Given the description of an element on the screen output the (x, y) to click on. 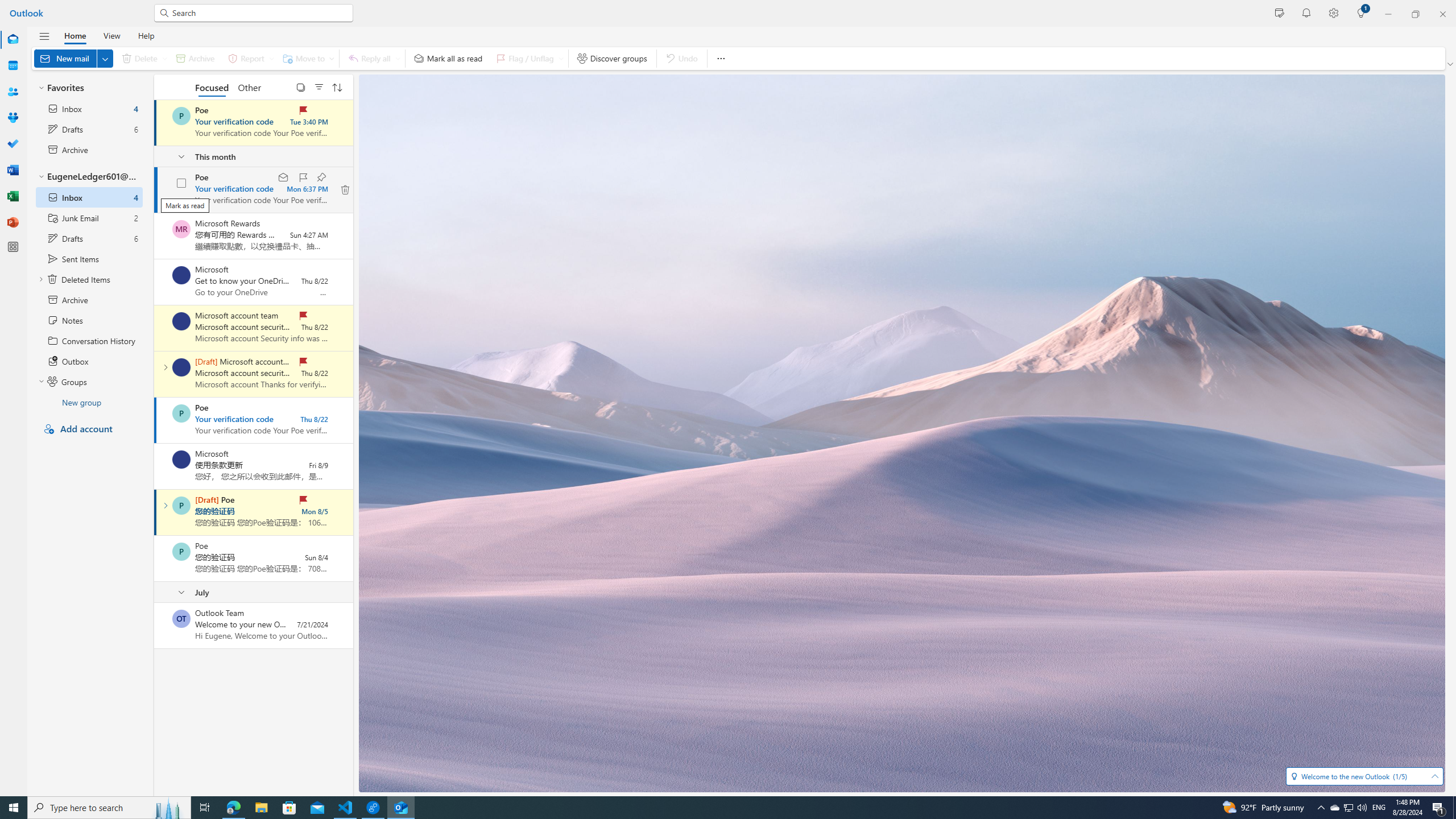
Expand to see more New options (104, 58)
Mail (12, 39)
Focused (212, 86)
To Do (12, 143)
Archive (194, 58)
Expand to see more report options (271, 58)
Microsoft Rewards (180, 229)
Class: Z0dEQ IKEiQ (345, 189)
System (6, 6)
Select (300, 86)
Undo (681, 58)
Microsoft (180, 459)
AutomationID: checkbox-114 (180, 182)
Discover groups (611, 58)
Calendar (12, 65)
